Given the description of an element on the screen output the (x, y) to click on. 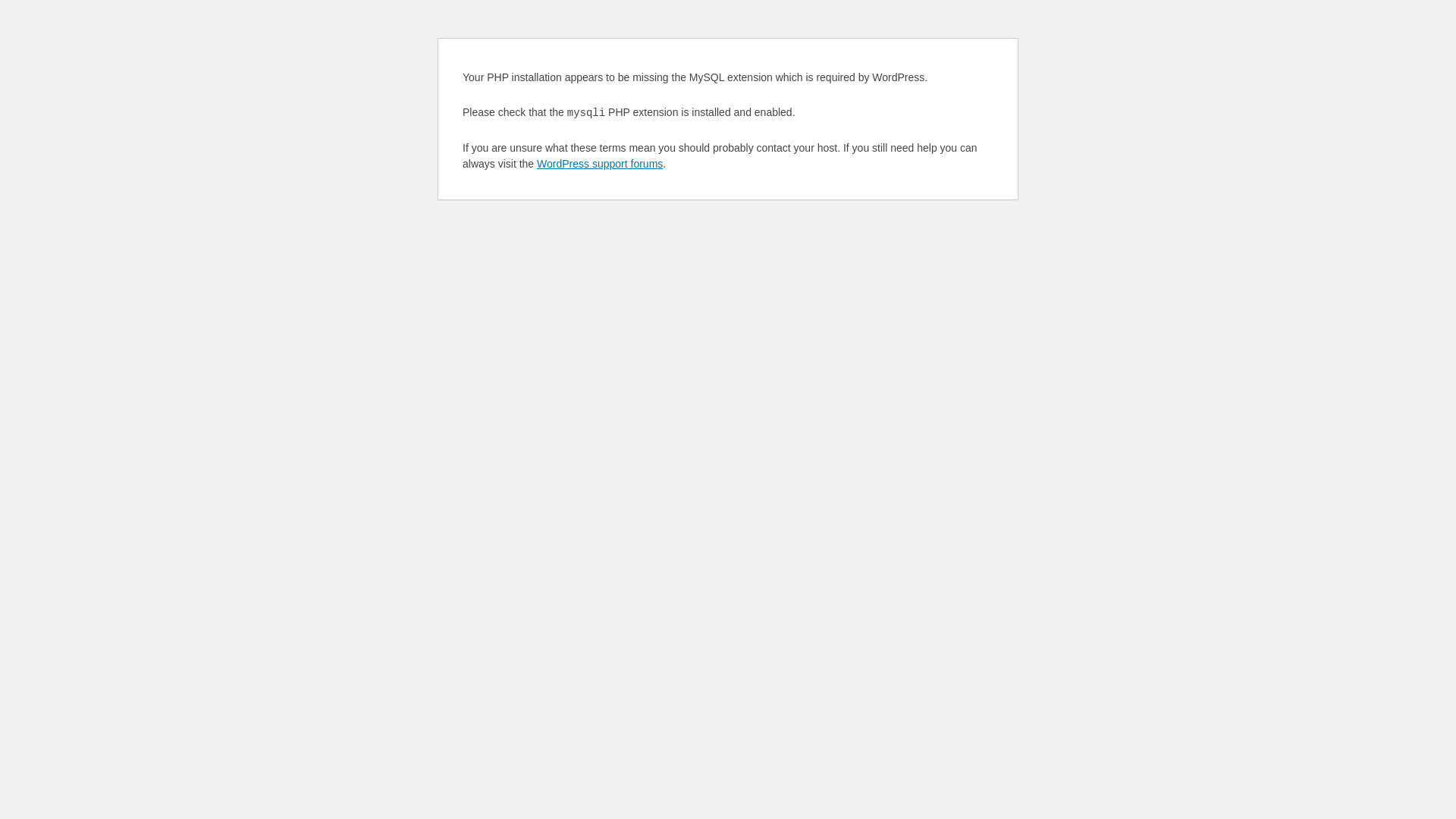
WordPress support forums Element type: text (599, 163)
